Given the description of an element on the screen output the (x, y) to click on. 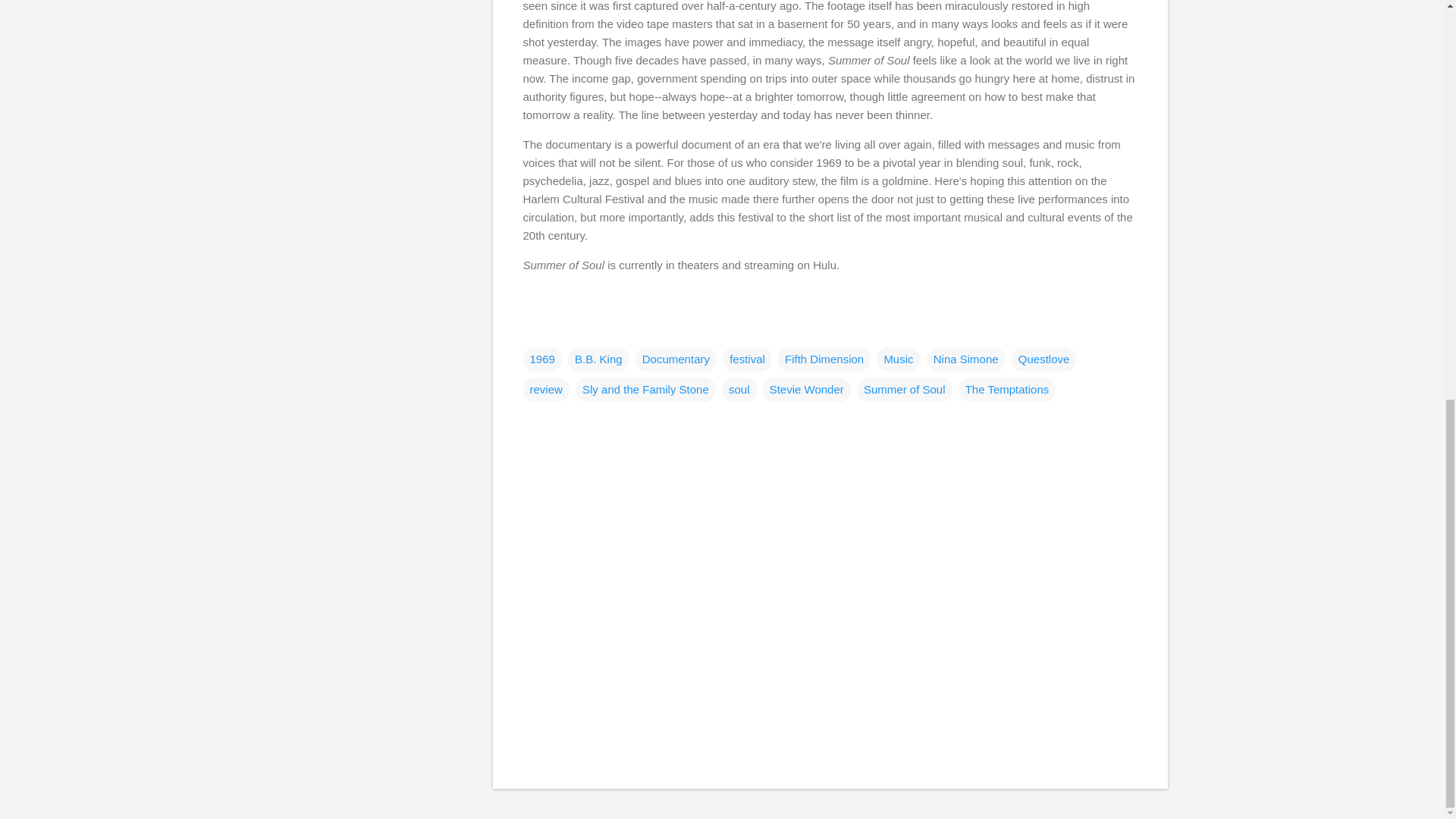
festival (746, 359)
1969 (542, 359)
Fifth Dimension (823, 359)
Stevie Wonder (806, 389)
Documentary (675, 359)
Sly and the Family Stone (645, 389)
Questlove (1044, 359)
Summer of Soul (904, 389)
B.B. King (597, 359)
soul (739, 389)
